Given the description of an element on the screen output the (x, y) to click on. 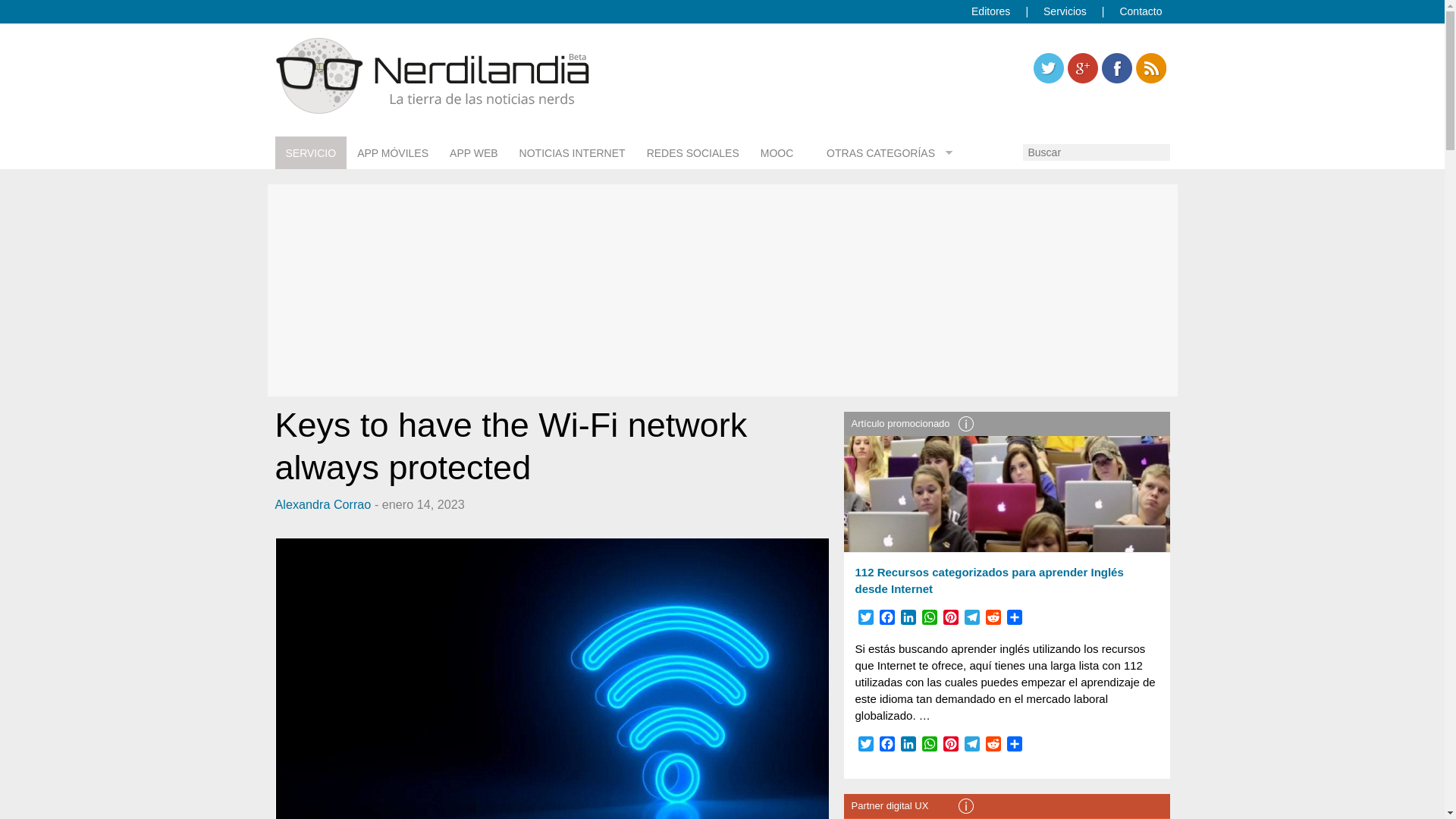
NOTICIAS INTERNET (572, 153)
Linkedin (1115, 68)
Twitter (1047, 68)
Ver todos los posts de Alexandra Corrao (323, 504)
facebook (1115, 68)
Editores (990, 10)
MOOC (777, 153)
Alexandra Corrao (323, 504)
Servicios (1064, 10)
APP WEB (473, 153)
